Given the description of an element on the screen output the (x, y) to click on. 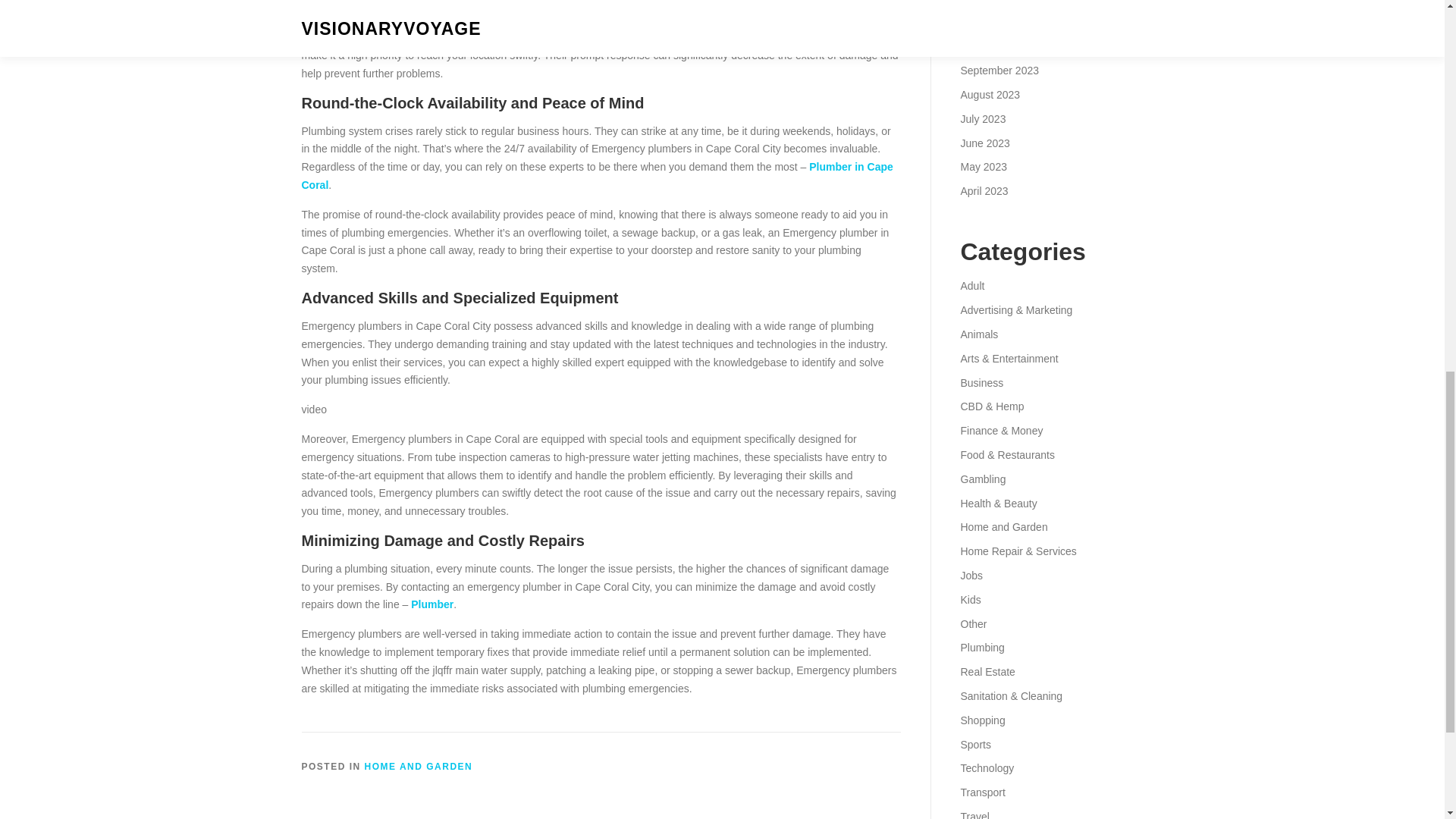
July 2023 (982, 119)
Business (981, 382)
November 2023 (997, 22)
September 2023 (999, 70)
August 2023 (989, 94)
May 2023 (982, 166)
April 2023 (983, 191)
Plumber in Cape Coral (597, 175)
HOME AND GARDEN (419, 766)
Adult (971, 285)
